Given the description of an element on the screen output the (x, y) to click on. 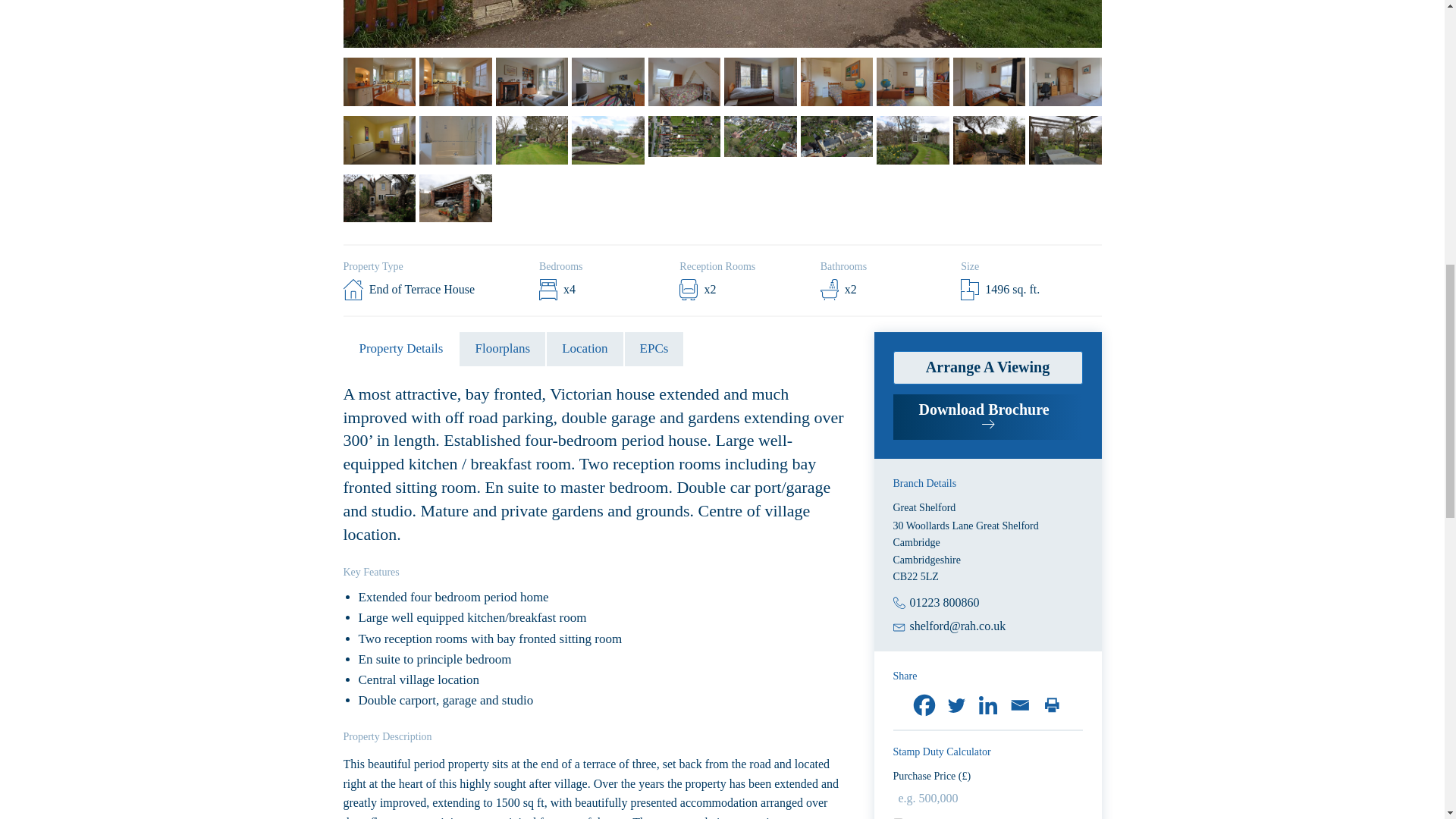
Print (1050, 705)
Email (1019, 705)
Facebook (924, 705)
Twitter (956, 705)
Linkedin (988, 705)
